Given the description of an element on the screen output the (x, y) to click on. 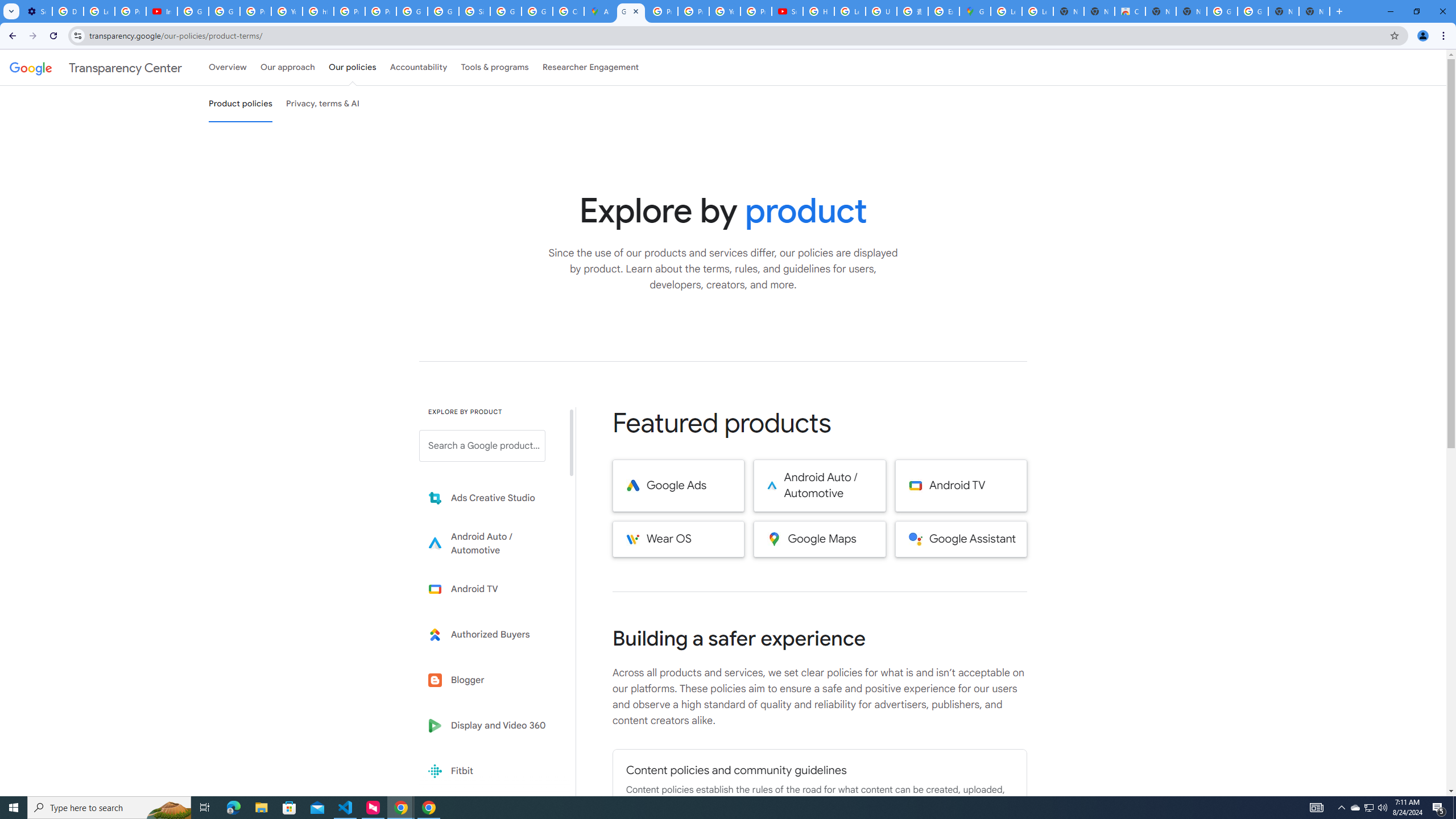
Google Images (1222, 11)
Learn more about Android Auto (490, 543)
New Tab (1314, 11)
Fitbit (490, 770)
Explore new street-level details - Google Maps Help (943, 11)
Privacy Help Center - Policies Help (693, 11)
Display and Video 360 (490, 725)
Android TV (960, 485)
Privacy, terms & AI (322, 103)
